Given the description of an element on the screen output the (x, y) to click on. 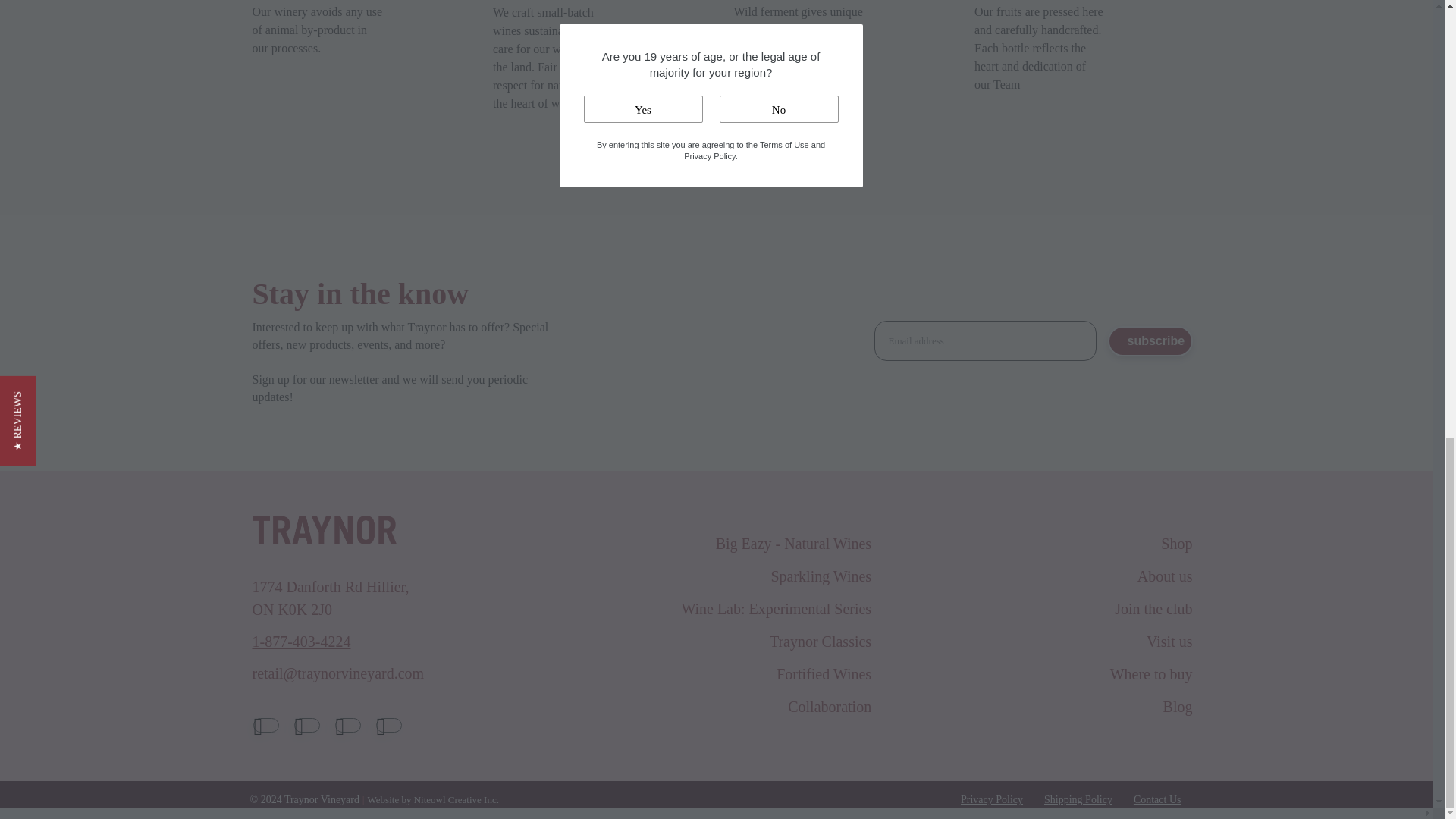
Traynor Family Vineyard on Instagram (347, 725)
Traynor Family Vineyard on Twitter (307, 725)
Traynor Family Vineyard on Facebook (266, 725)
